Given the description of an element on the screen output the (x, y) to click on. 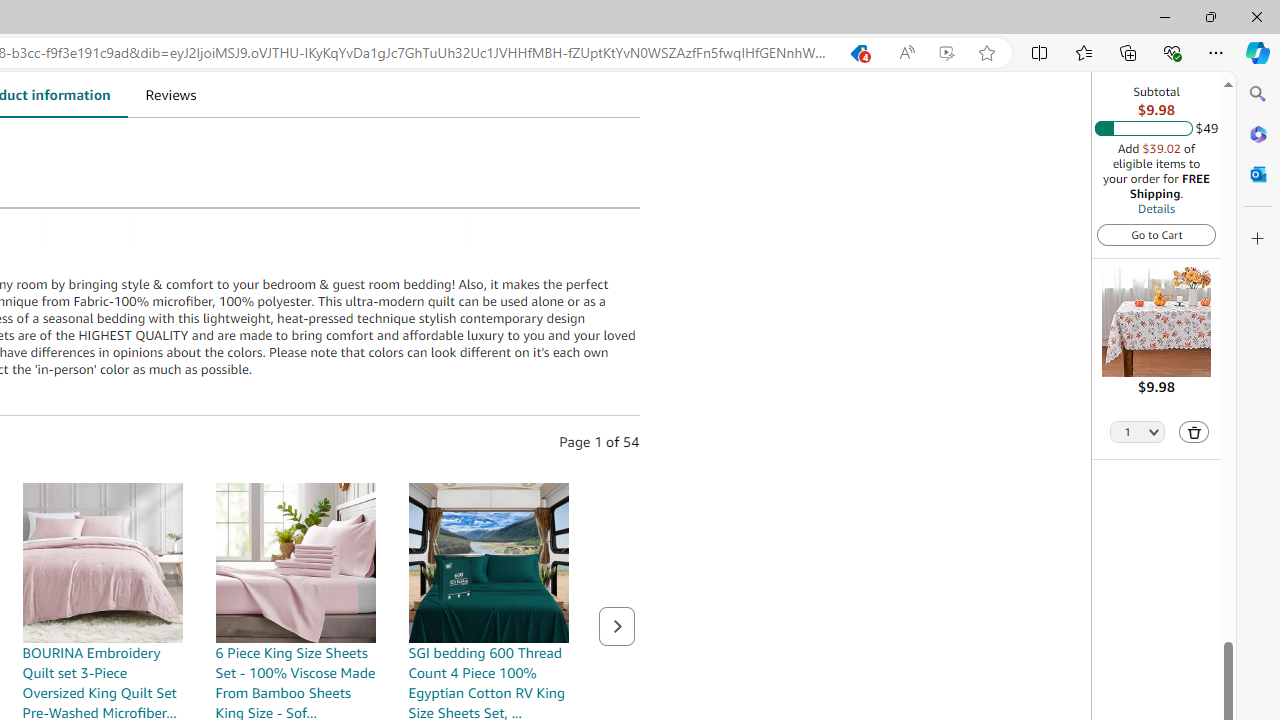
Reviews (169, 94)
